Given the description of an element on the screen output the (x, y) to click on. 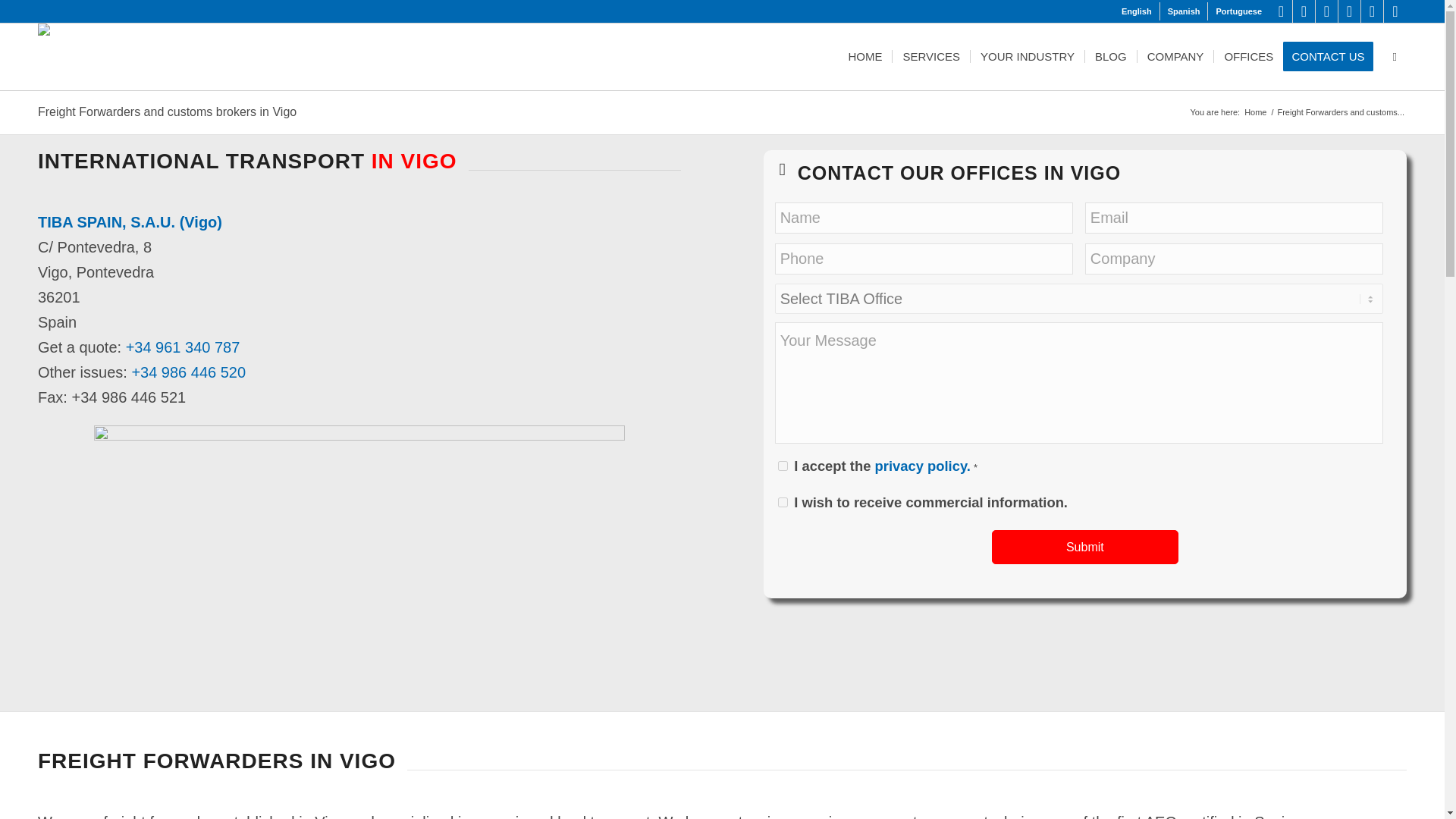
LinkedIn (1280, 11)
Portuguese (1238, 11)
Spanish (1183, 11)
Portuguese (1238, 11)
1 (782, 501)
Facebook (1327, 11)
YOUR INDUSTRY (1026, 56)
SERVICES (930, 56)
English (1136, 11)
Spanish (1183, 11)
English (1136, 11)
1 (782, 465)
Mail (1395, 11)
Rss (1372, 11)
